Given the description of an element on the screen output the (x, y) to click on. 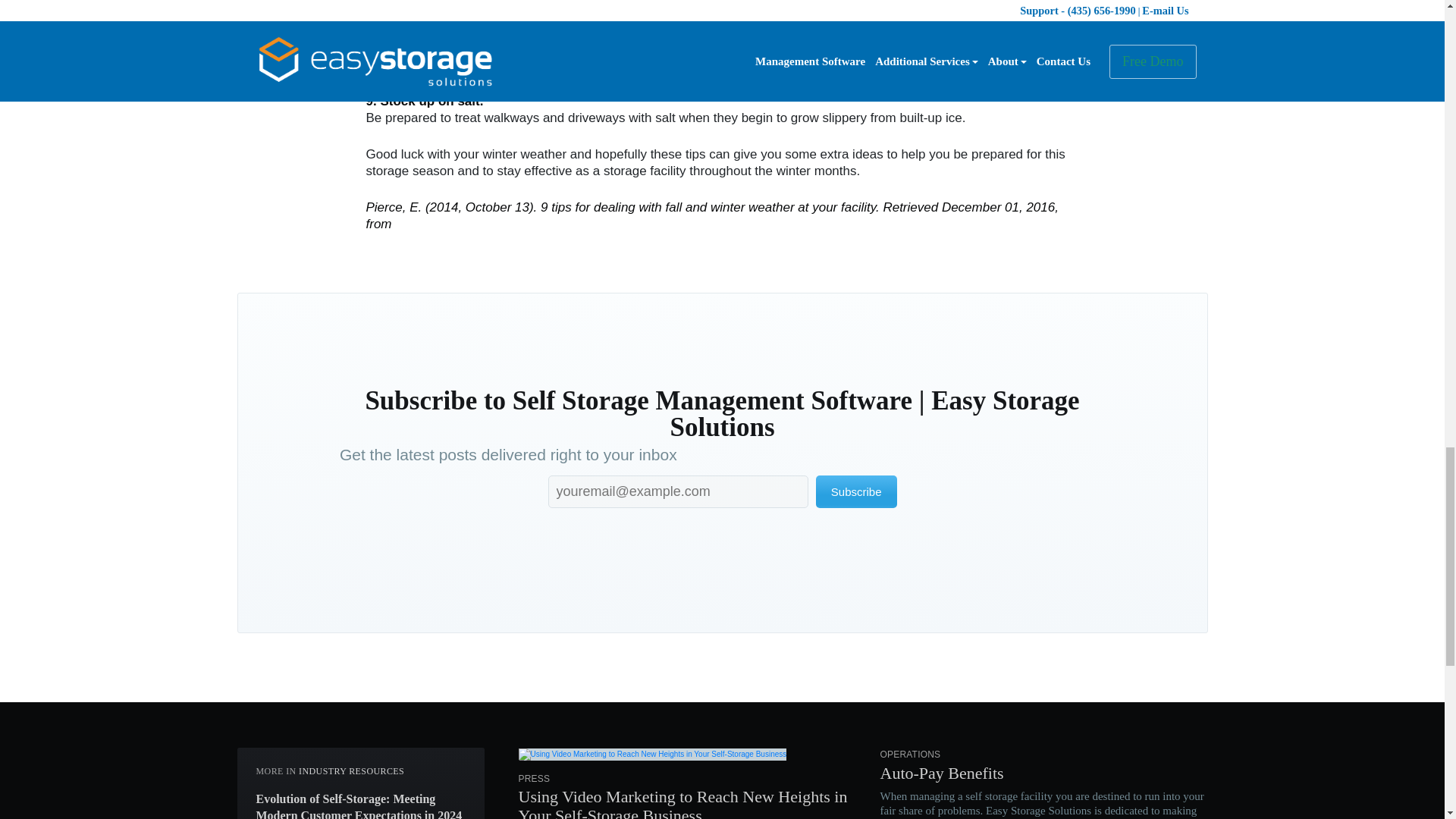
INDUSTRY RESOURCES (351, 770)
Subscribe (855, 491)
